Given the description of an element on the screen output the (x, y) to click on. 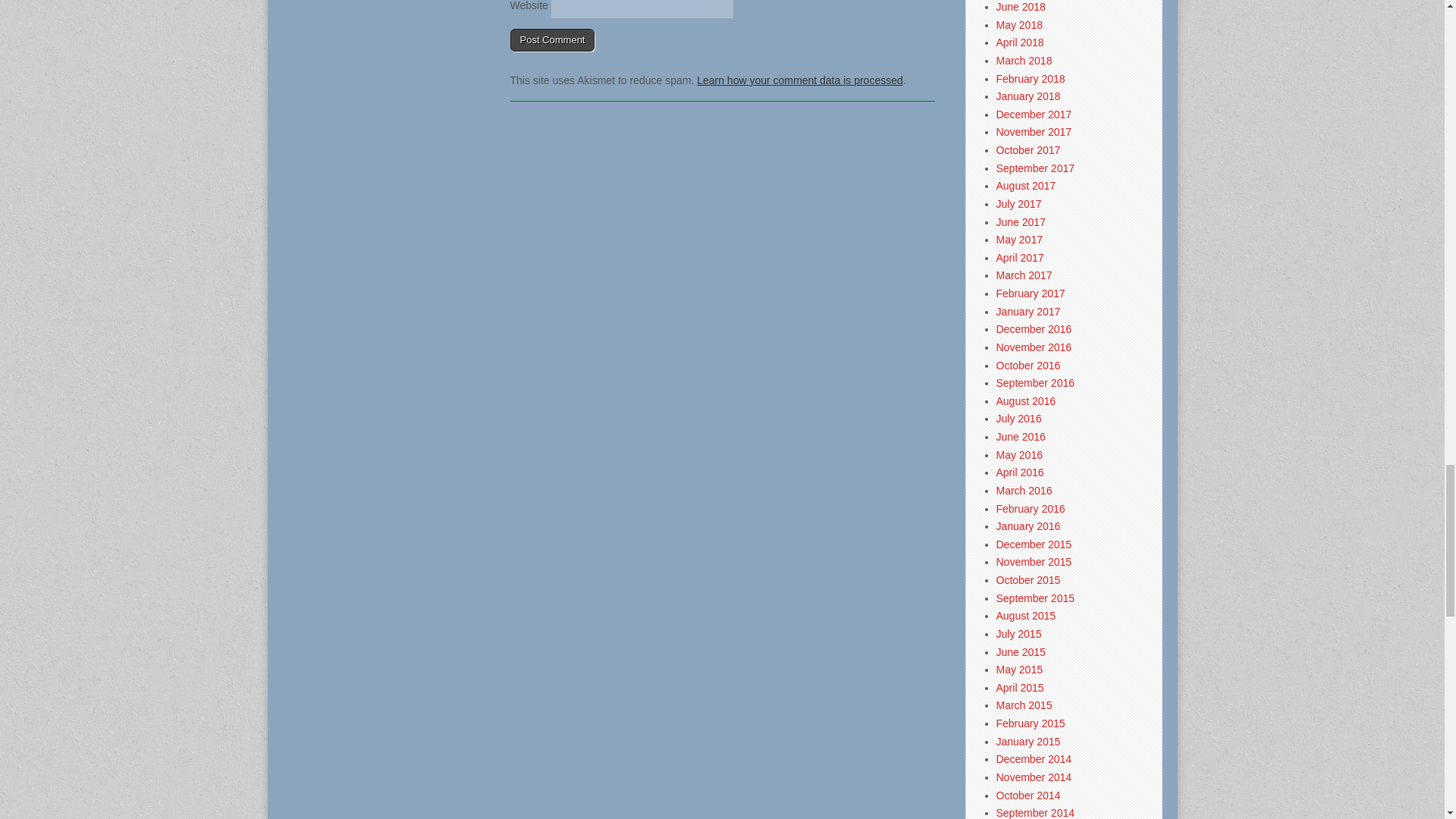
Post Comment (551, 39)
Post Comment (551, 39)
Learn how your comment data is processed (799, 80)
